Given the description of an element on the screen output the (x, y) to click on. 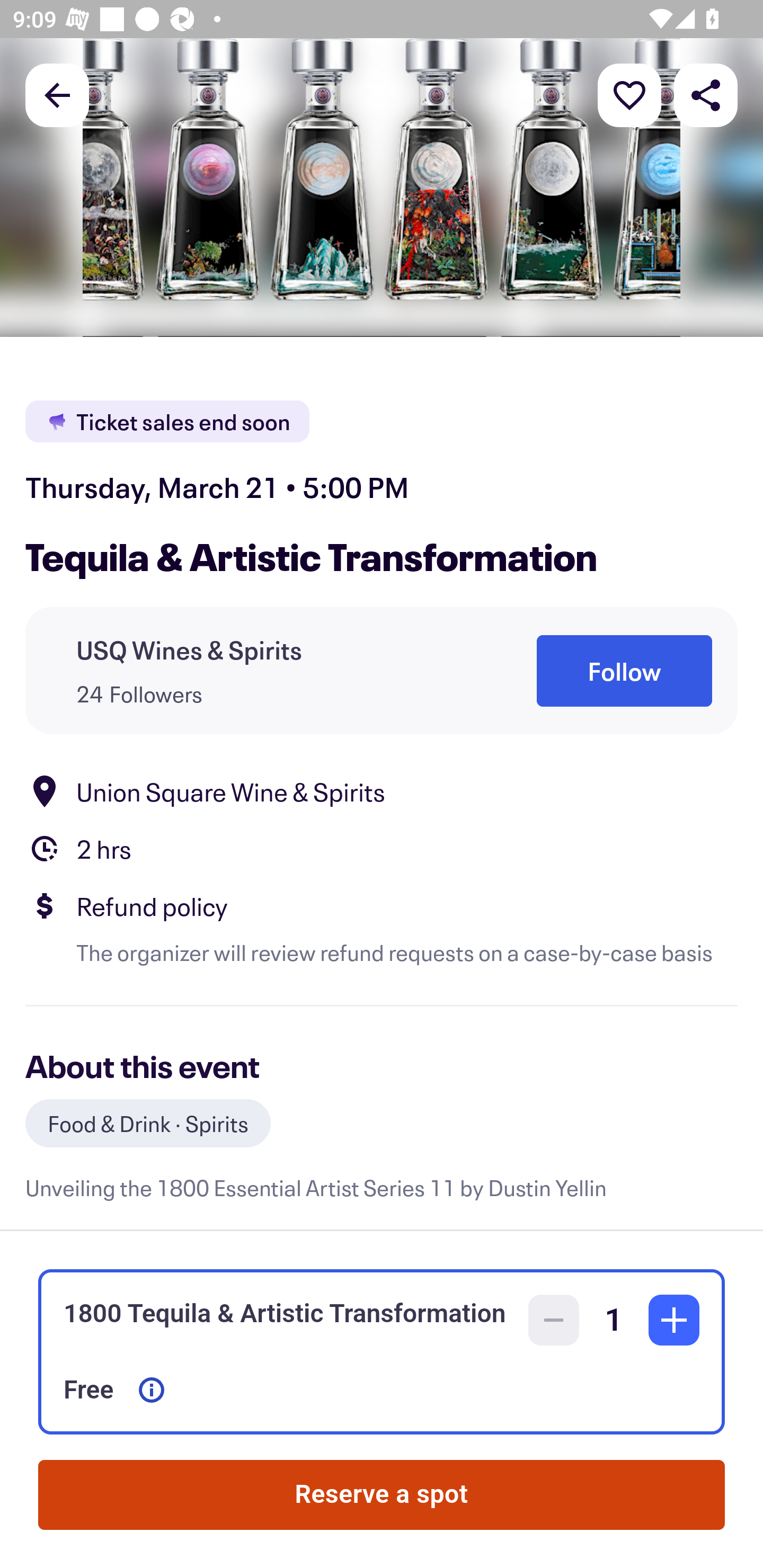
Back (57, 94)
More (629, 94)
Share (705, 94)
USQ Wines & Spirits (189, 649)
Follow (623, 670)
Location Union Square Wine & Spirits (381, 790)
